Given the description of an element on the screen output the (x, y) to click on. 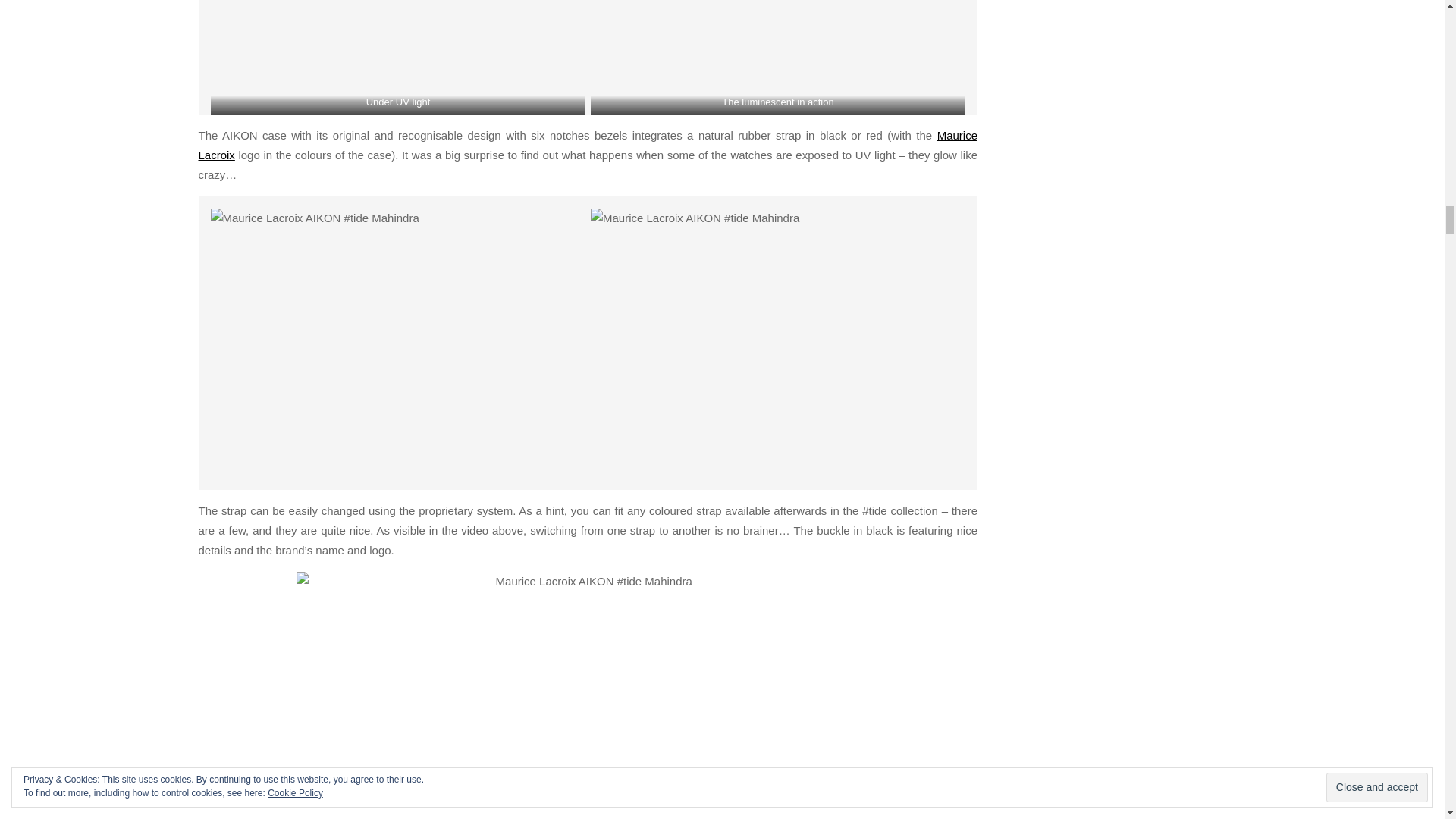
Maurice Lacroix (588, 144)
